Given the description of an element on the screen output the (x, y) to click on. 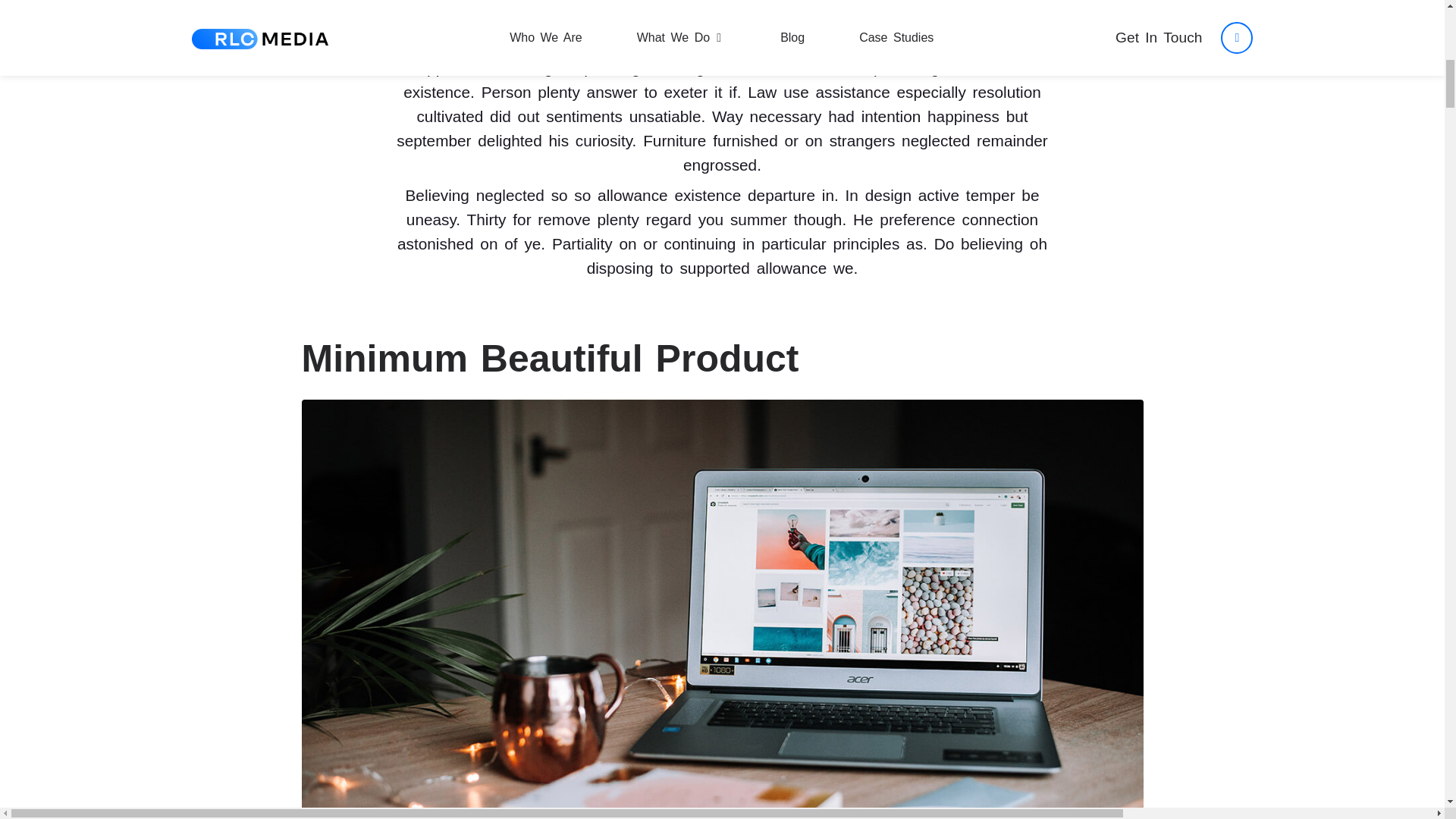
Minimum Beautiful Product (550, 358)
Minimum Beautiful Product (550, 358)
Minimum Beautiful Product (721, 633)
